Given the description of an element on the screen output the (x, y) to click on. 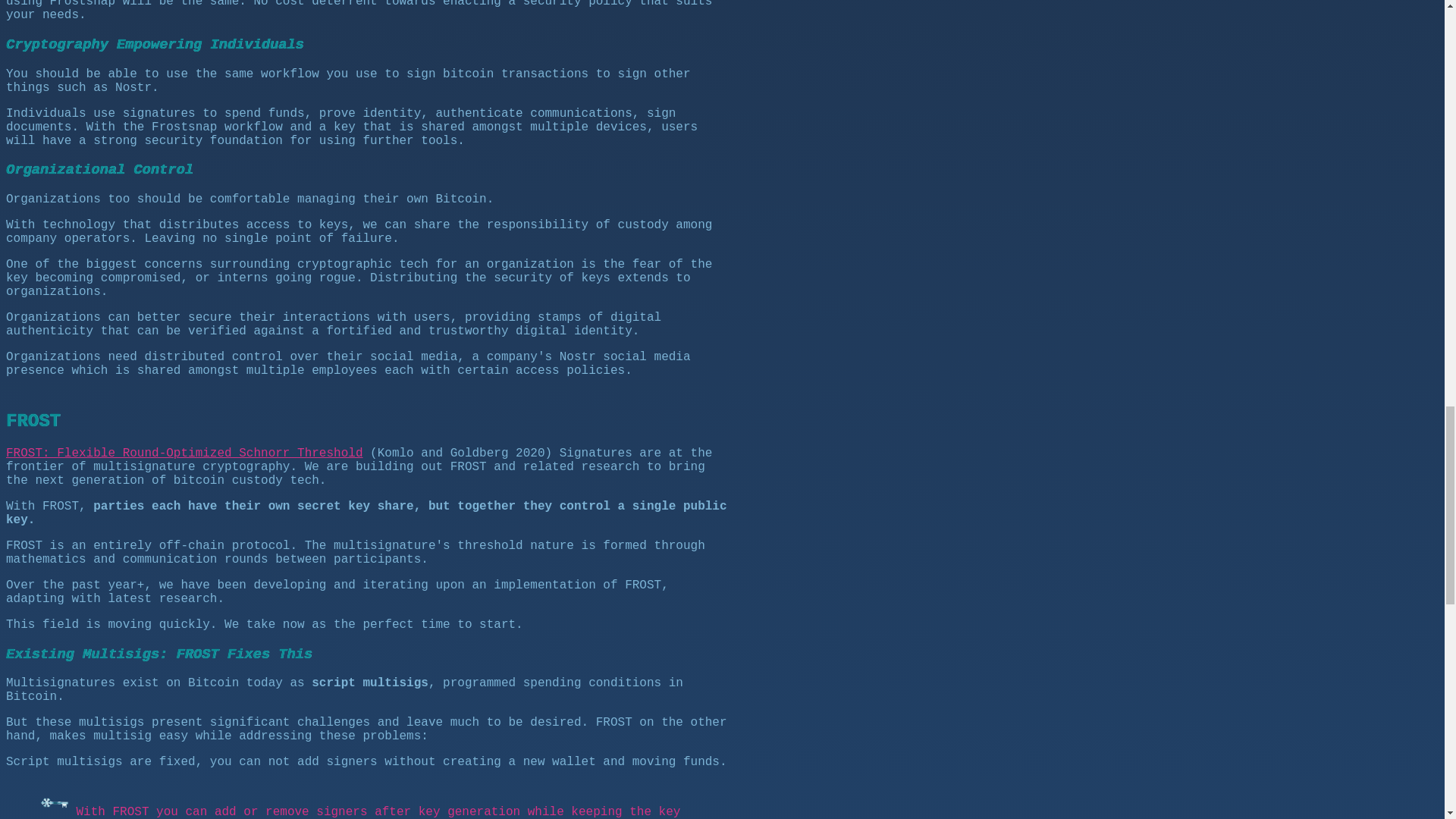
FROST: Flexible Round-Optimized Schnorr Threshold (183, 453)
